Given the description of an element on the screen output the (x, y) to click on. 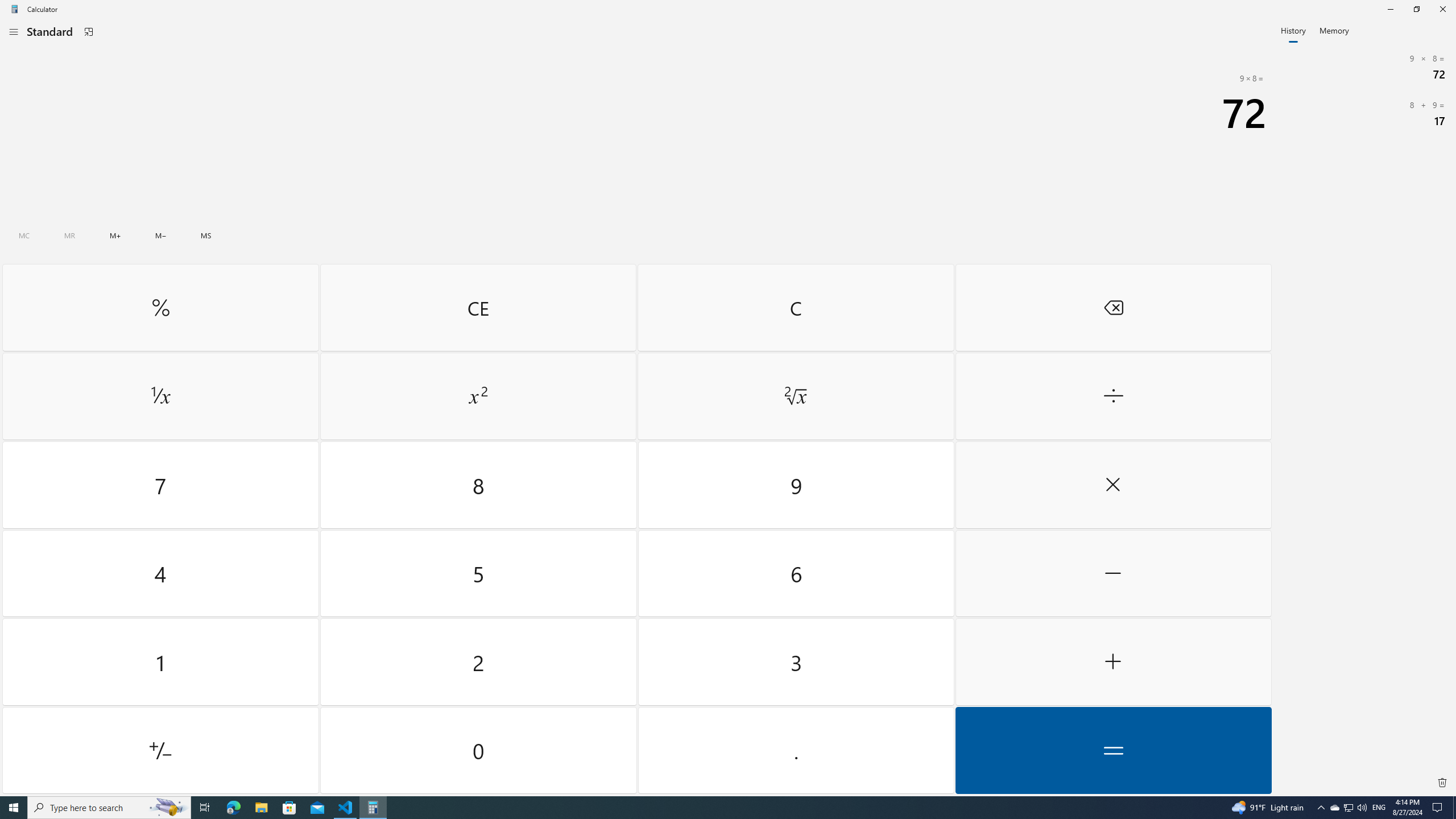
Notification Chevron (1320, 807)
Memory subtract (160, 235)
Minus (1113, 572)
Clear entry (478, 307)
Backspace (1113, 307)
Type here to search (108, 807)
Positive negative (160, 749)
Visual Studio Code - 1 running window (345, 807)
Seven (160, 485)
Search highlights icon opens search home window (167, 807)
Multiply by (1113, 485)
Open Navigation (13, 31)
Divide by (1113, 396)
